Given the description of an element on the screen output the (x, y) to click on. 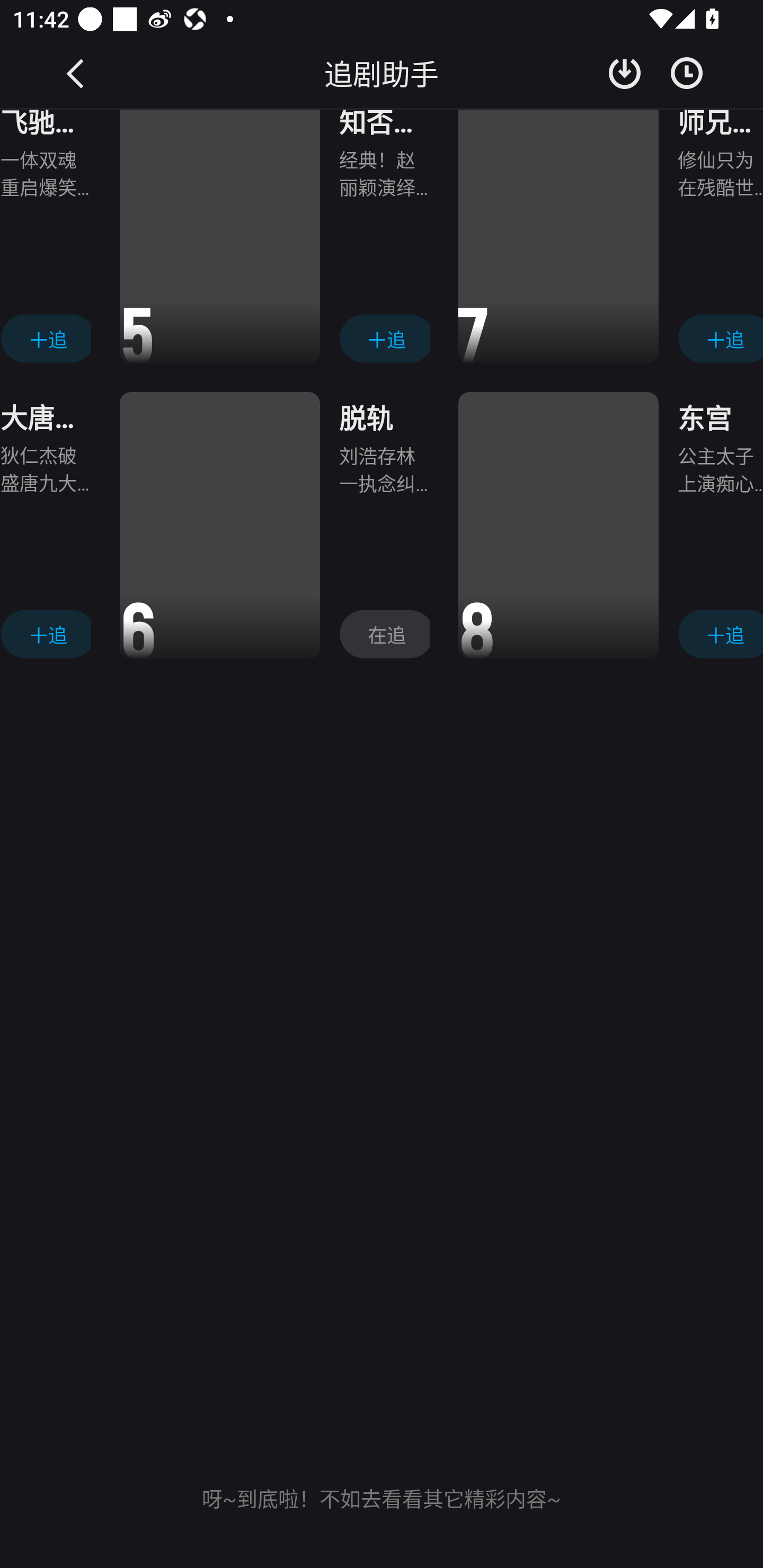
追剧助手 (381, 72)
 返回 (76, 72)
下载 (624, 72)
历史 (686, 72)
追 (45, 338)
追 (383, 338)
追 (720, 338)
追 (45, 633)
在追 (383, 633)
追 (720, 633)
